Given the description of an element on the screen output the (x, y) to click on. 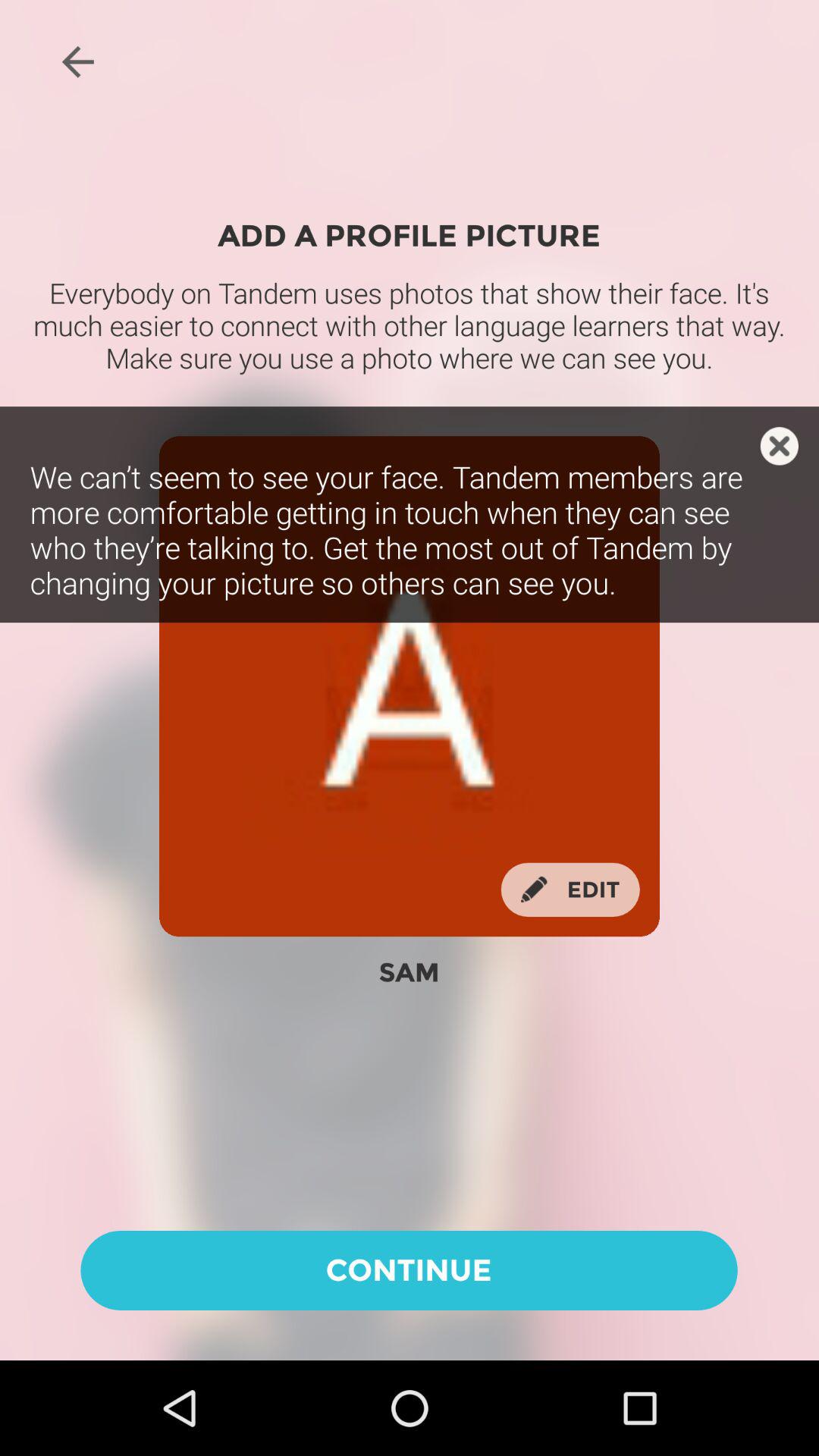
go back (77, 61)
